Given the description of an element on the screen output the (x, y) to click on. 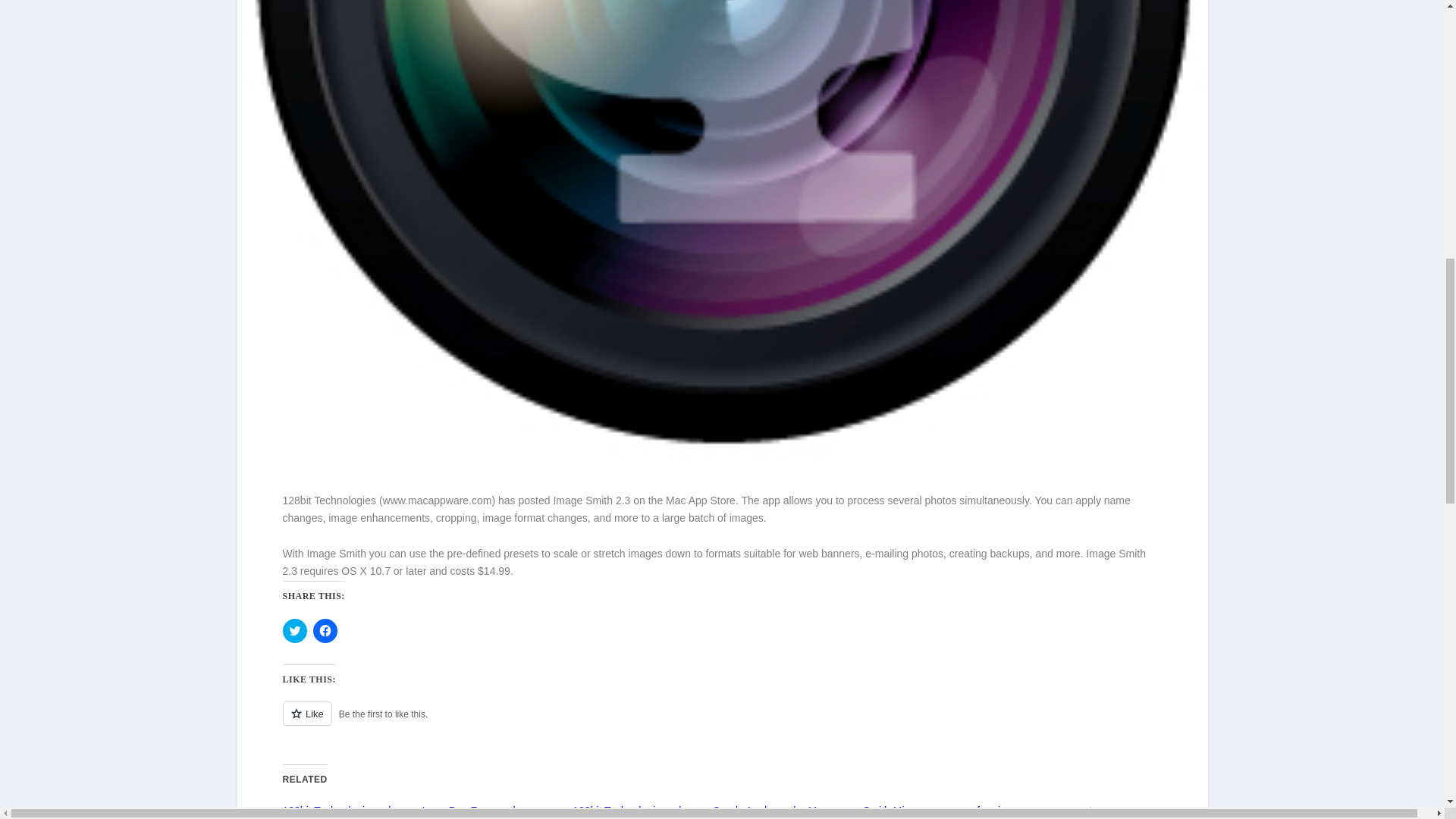
Like or Reblog (721, 721)
Smith Micro announces free image management app (987, 810)
Click to share on Twitter (293, 630)
Click to share on Facebook (324, 630)
